Given the description of an element on the screen output the (x, y) to click on. 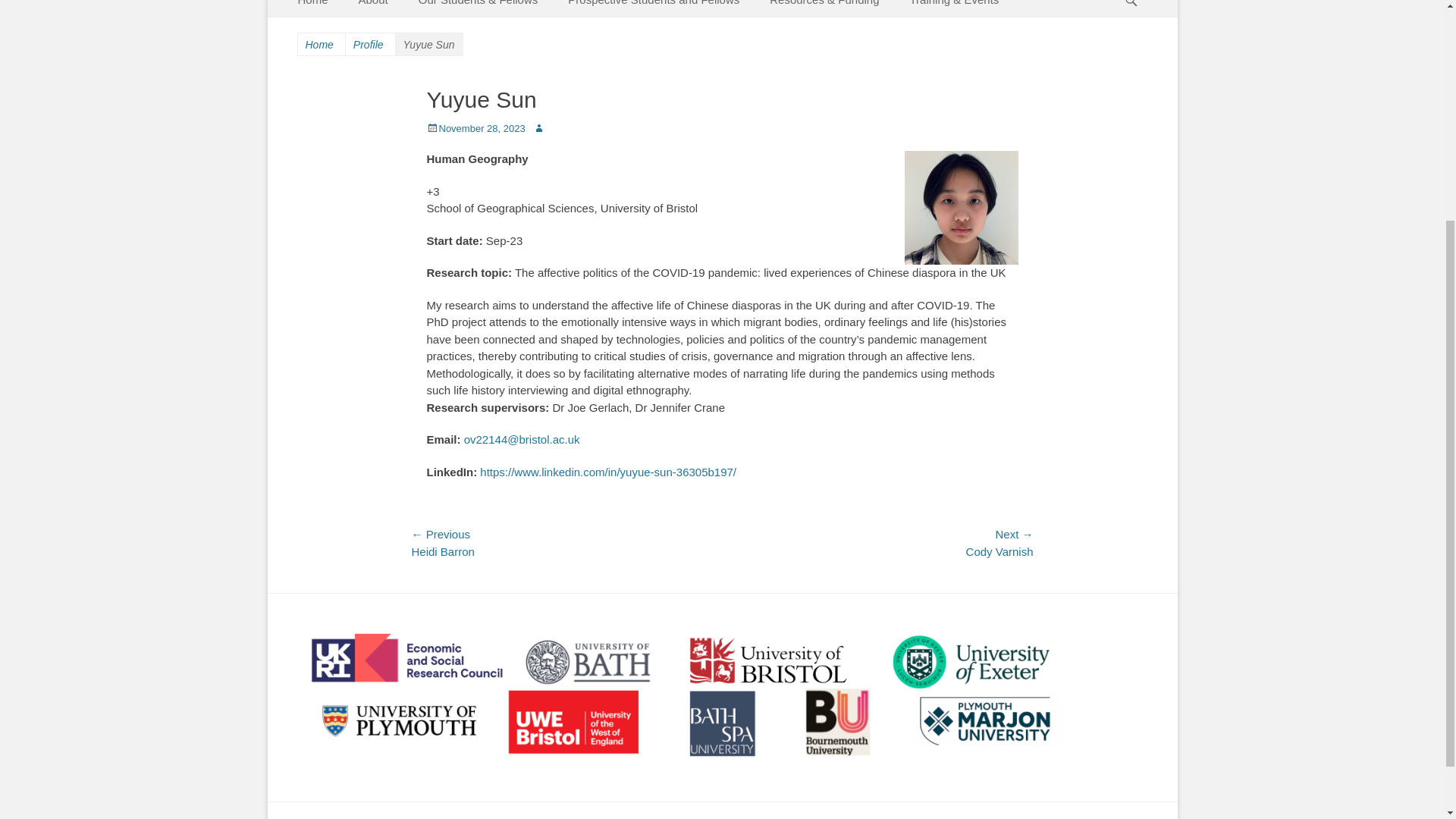
About (373, 8)
Home (312, 8)
Prospective Students and Fellows (653, 8)
